Given the description of an element on the screen output the (x, y) to click on. 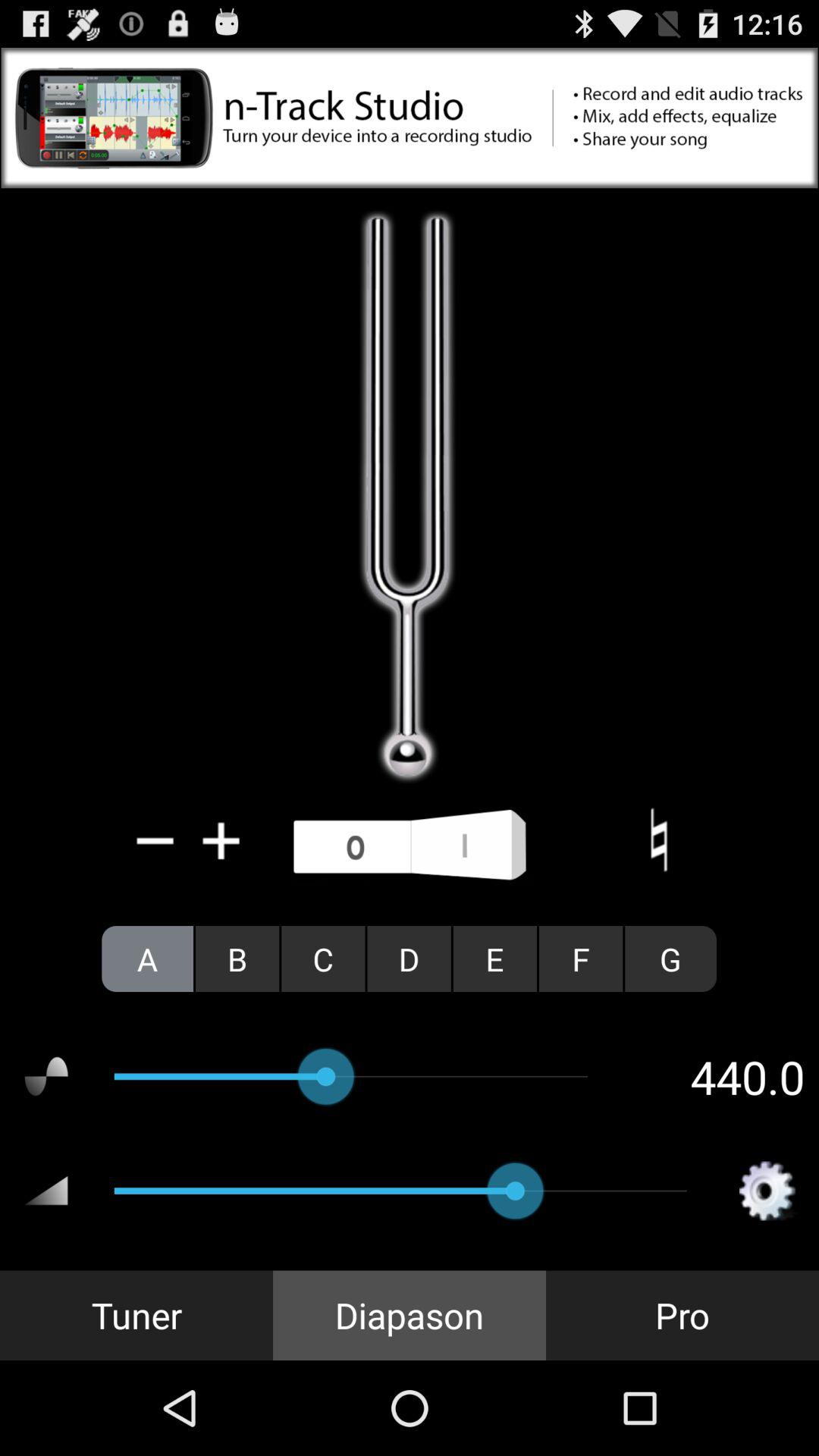
click the radio button to the left of d radio button (323, 958)
